Given the description of an element on the screen output the (x, y) to click on. 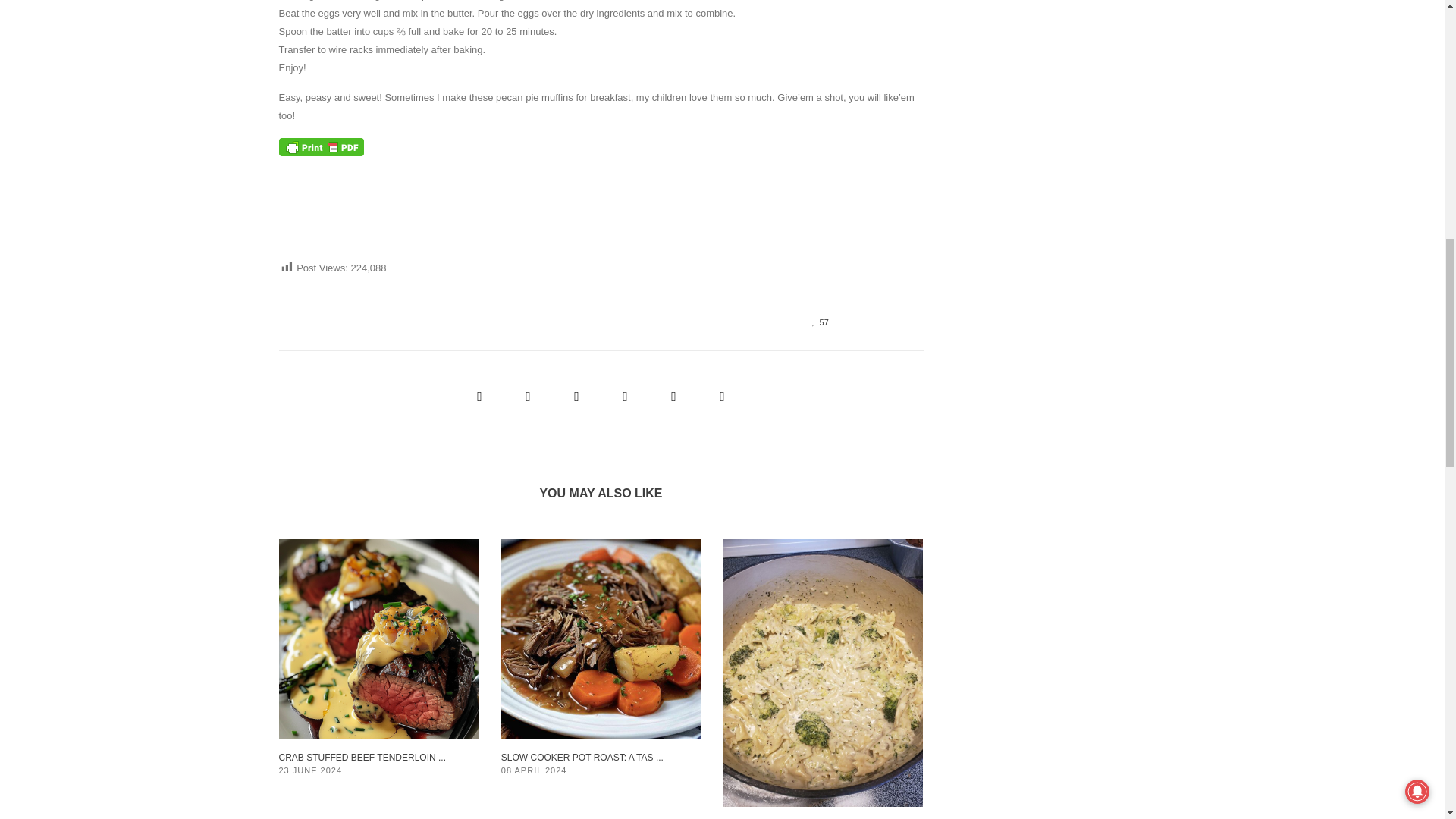
Like (815, 320)
CRAB STUFFED BEEF TENDERLOIN ... (362, 757)
SLOW COOKER POT ROAST: A TAS ... (581, 757)
57 (815, 320)
